Given the description of an element on the screen output the (x, y) to click on. 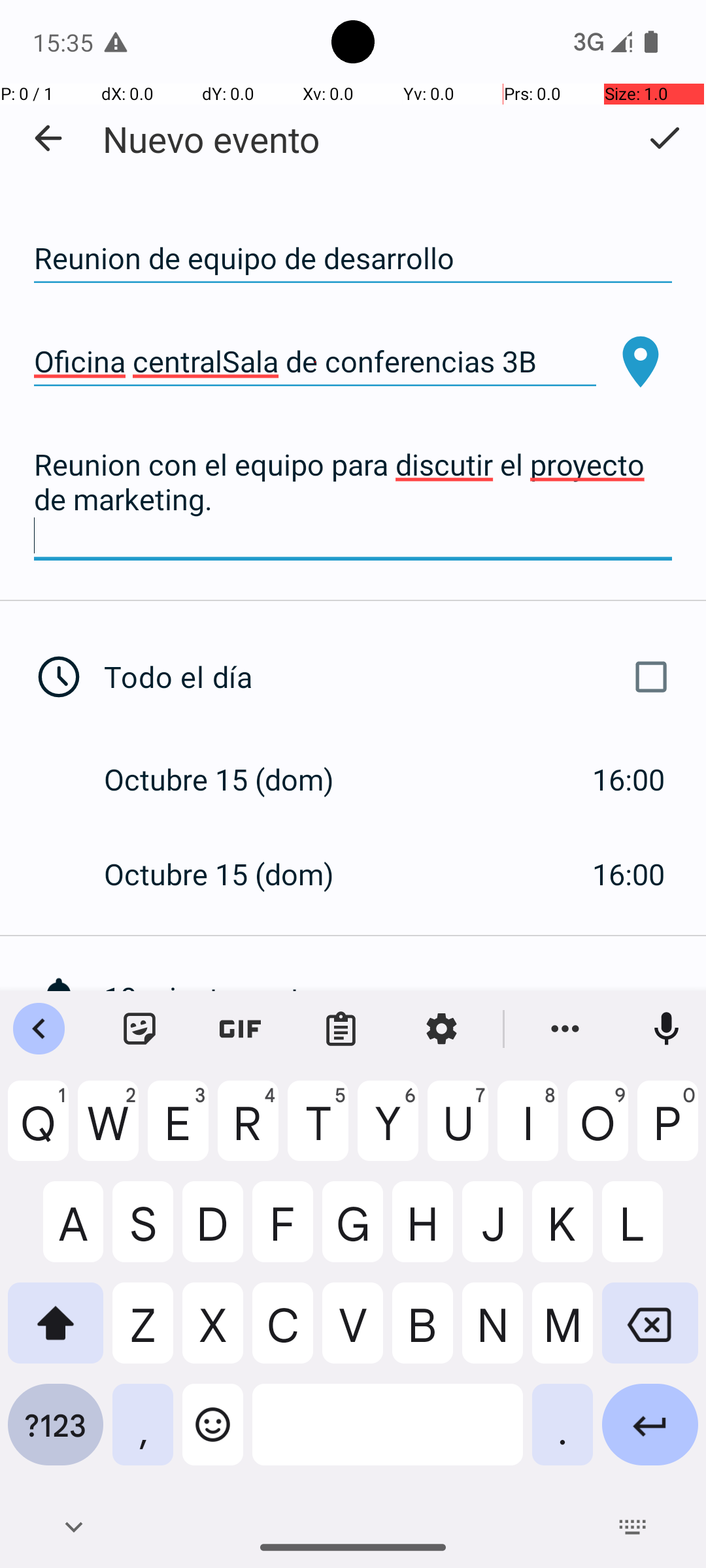
Reunion de equipo de desarrollo Element type: android.widget.EditText (352, 258)
Oficina centralSala de conferencias 3B Element type: android.widget.EditText (314, 361)
Reunion con el equipo para discutir el proyecto de marketing.
 Element type: android.widget.EditText (352, 499)
